Given the description of an element on the screen output the (x, y) to click on. 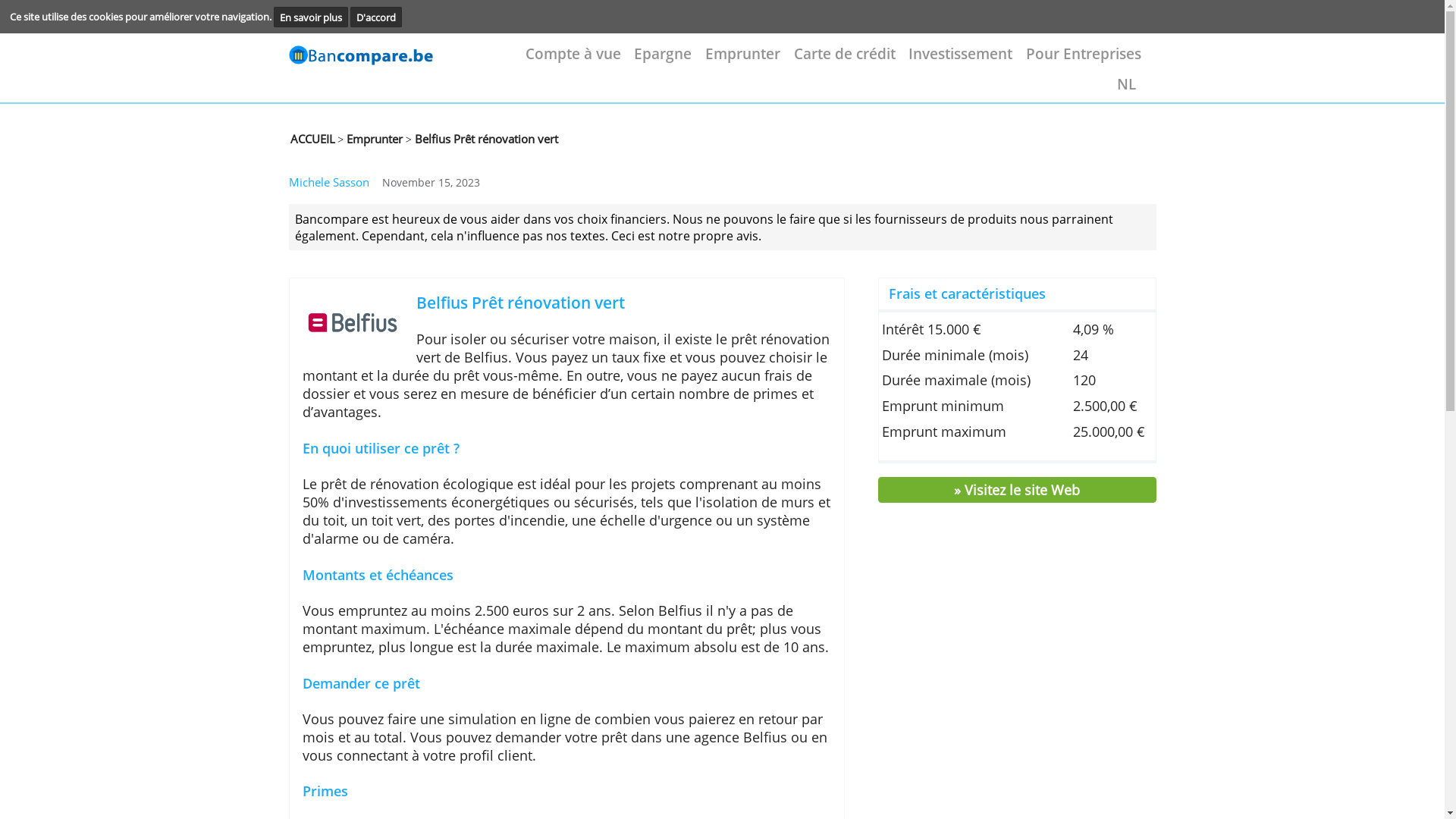
En savoir plus Element type: text (352, 19)
NL Element type: text (1277, 94)
Pour Entreprises Element type: text (1230, 59)
Michele Sasson Element type: text (374, 207)
Epargne Element type: text (753, 59)
Investissement Element type: text (1091, 59)
Emprunter Element type: text (843, 59)
Emprunter Element type: text (424, 156)
ACCUEIL Element type: text (354, 156)
D'accord Element type: text (427, 19)
